Given the description of an element on the screen output the (x, y) to click on. 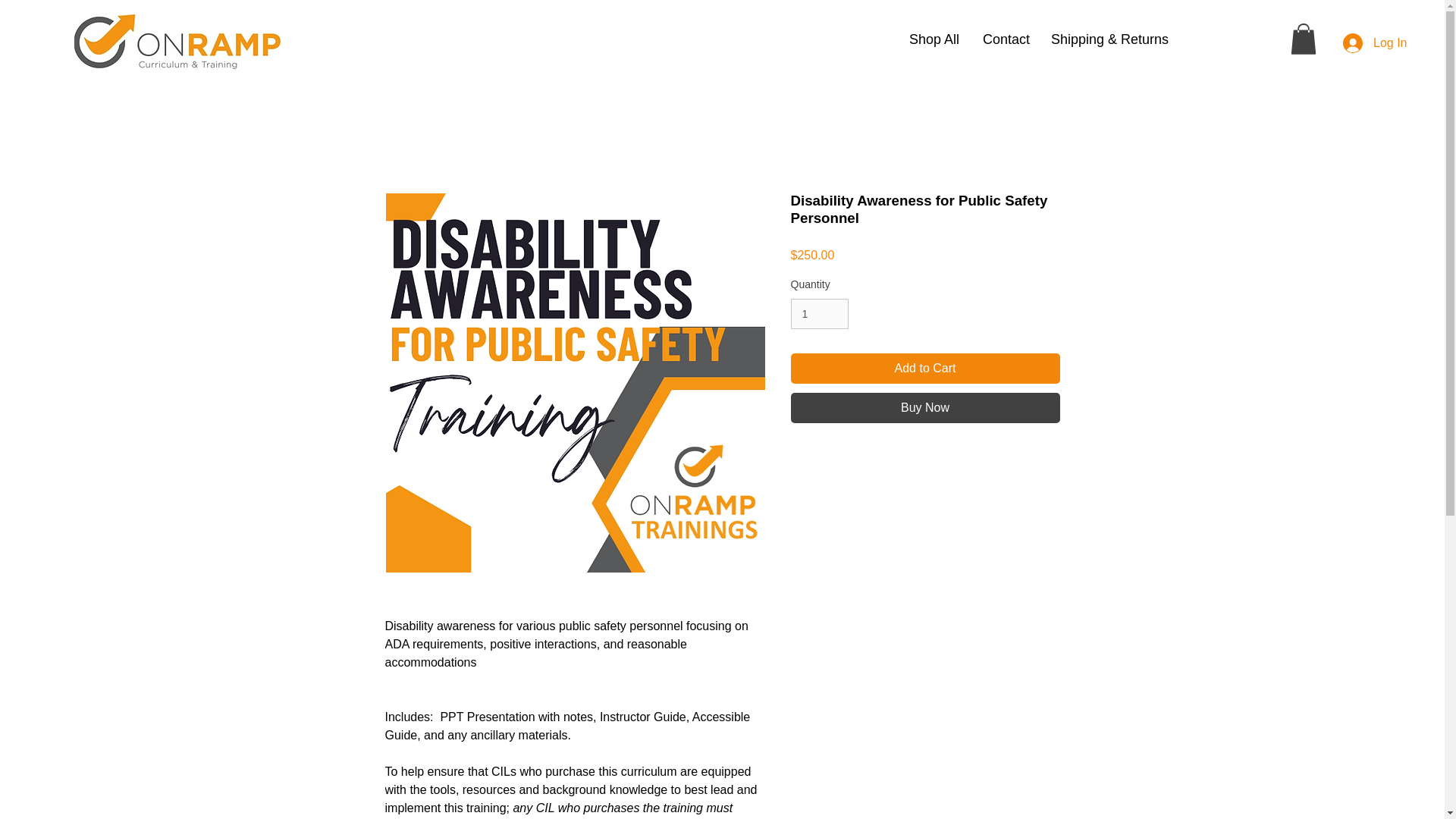
Add to Cart (924, 368)
Buy Now (924, 408)
Contact (1005, 39)
Shop All (934, 39)
Log In (1363, 42)
1 (818, 314)
